Given the description of an element on the screen output the (x, y) to click on. 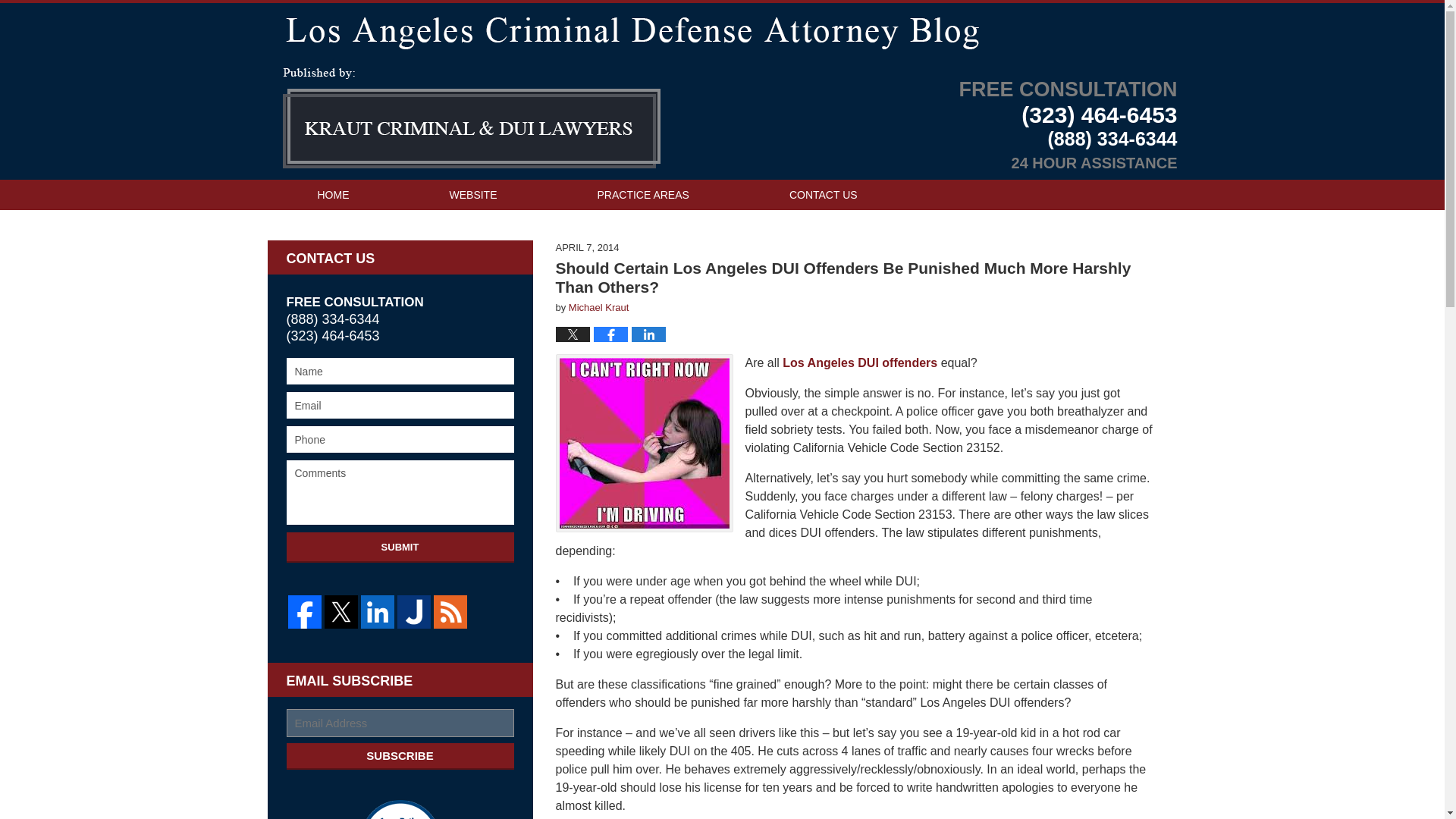
Feed (450, 611)
AVVO Rating (399, 809)
Please enter a valid phone number. (399, 438)
HOME (332, 194)
SUBSCRIBE (399, 755)
PRACTICE AREAS (643, 194)
Michael Kraut (598, 307)
Facebook (304, 611)
LinkedIn (377, 611)
Justia (414, 611)
SUBMIT (399, 547)
WEBSITE (472, 194)
Los Angeles Criminal Defense Attorney Blog (470, 117)
Los Angeles DUI offenders (860, 362)
Twitter (341, 611)
